Given the description of an element on the screen output the (x, y) to click on. 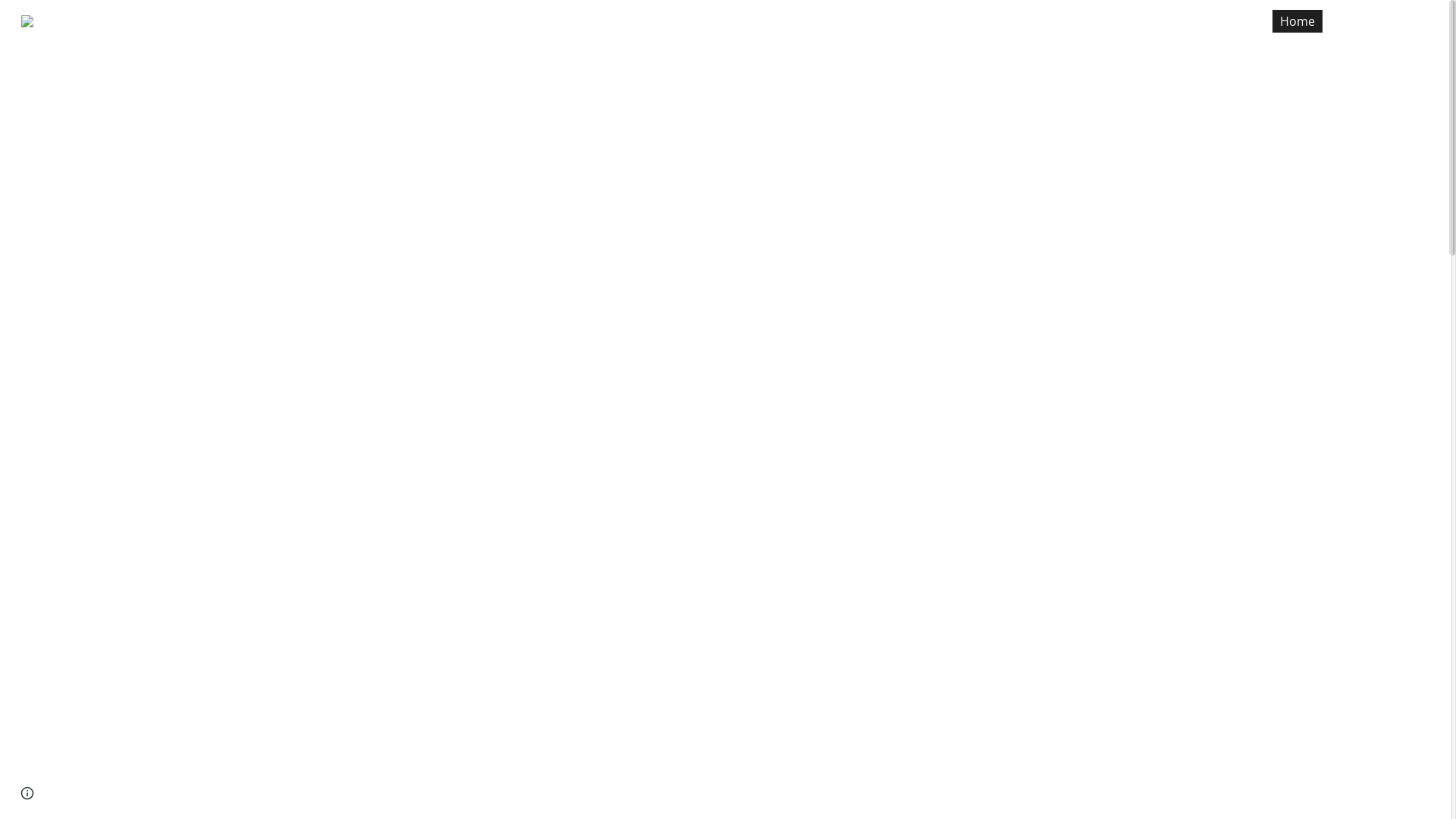
AB REAL ESTATE TEAM Element type: text (99, 18)
Resources Element type: text (1370, 20)
Home Element type: text (1297, 20)
